Given the description of an element on the screen output the (x, y) to click on. 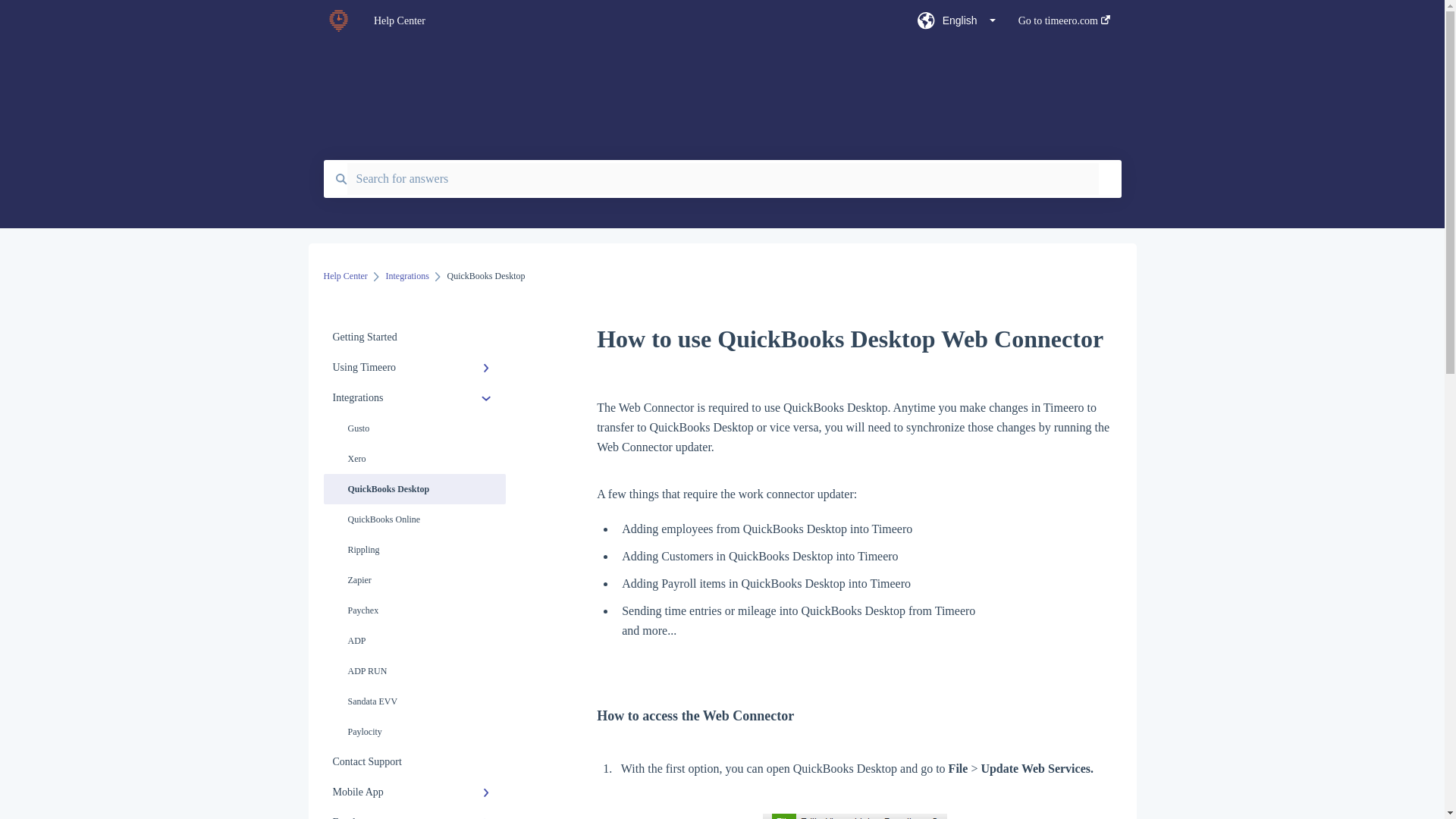
Help Center (623, 21)
English (956, 25)
Go to timeero.com (1063, 25)
